Given the description of an element on the screen output the (x, y) to click on. 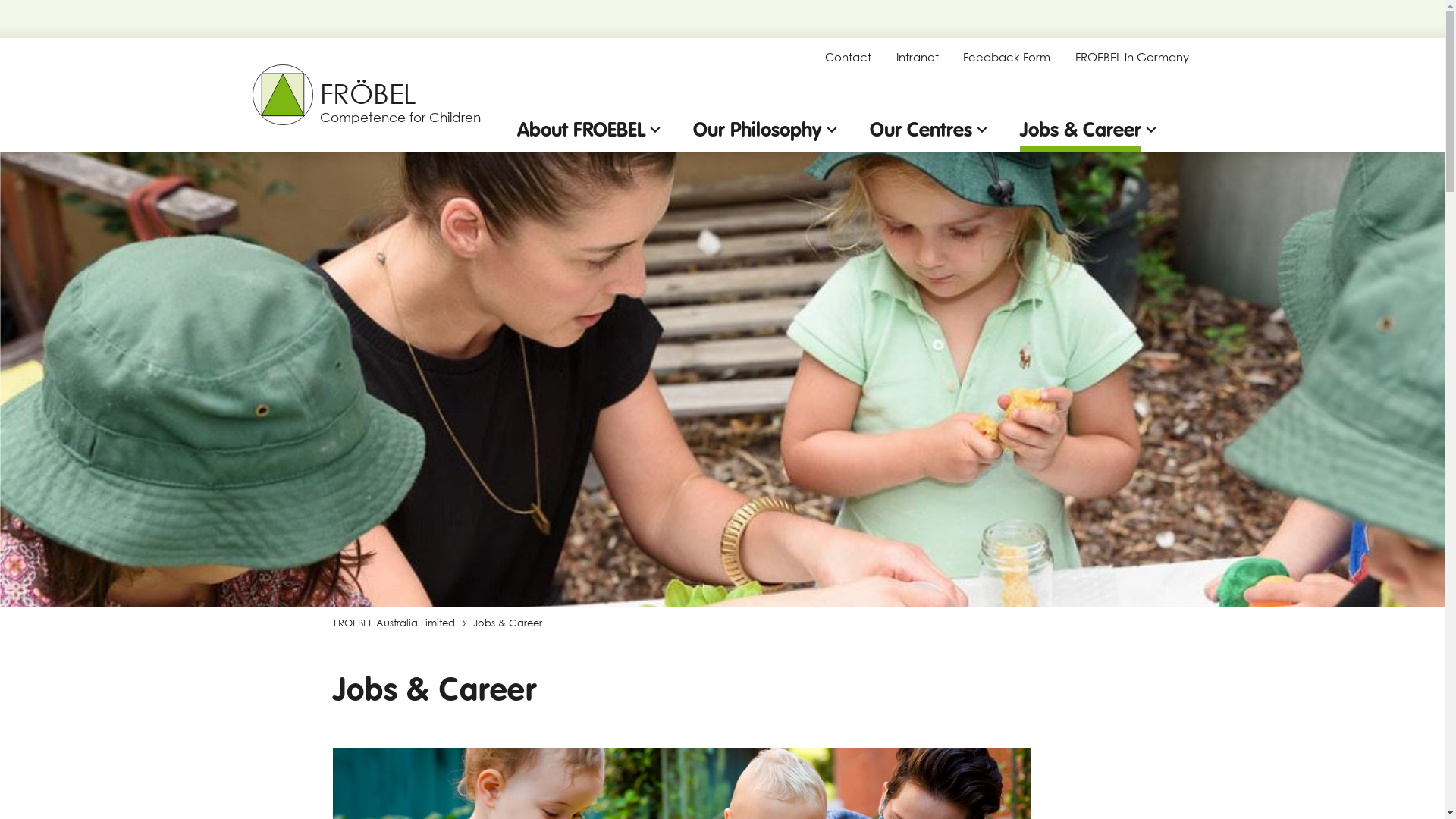
Intranet Element type: text (917, 57)
Feedback Form Element type: text (1006, 57)
About FROEBEL Element type: text (591, 129)
Our Philosophy Element type: text (767, 129)
FROEBEL in Germany Element type: text (1132, 57)
 FROEBEL Australia Limited Element type: text (392, 622)
Jobs & Career Element type: text (1089, 129)
Contact Element type: text (848, 57)
Our Centres Element type: text (930, 129)
